Given the description of an element on the screen output the (x, y) to click on. 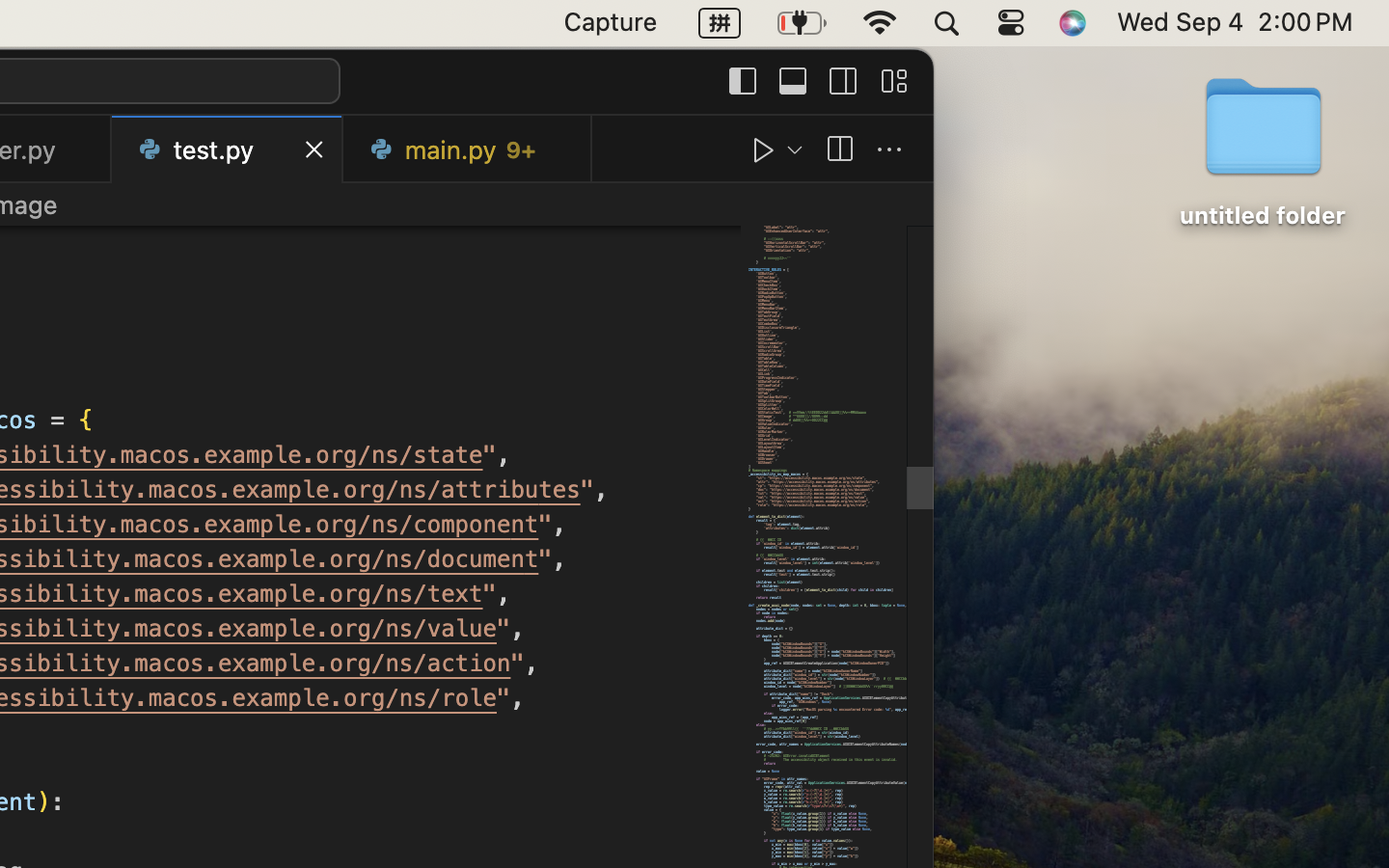
 Element type: AXCheckBox (742, 80)
 Element type: AXCheckBox (792, 80)
 Element type: AXCheckBox (842, 80)
 Element type: AXStaticText (888, 150)
 Element type: AXButton (892, 80)
